Given the description of an element on the screen output the (x, y) to click on. 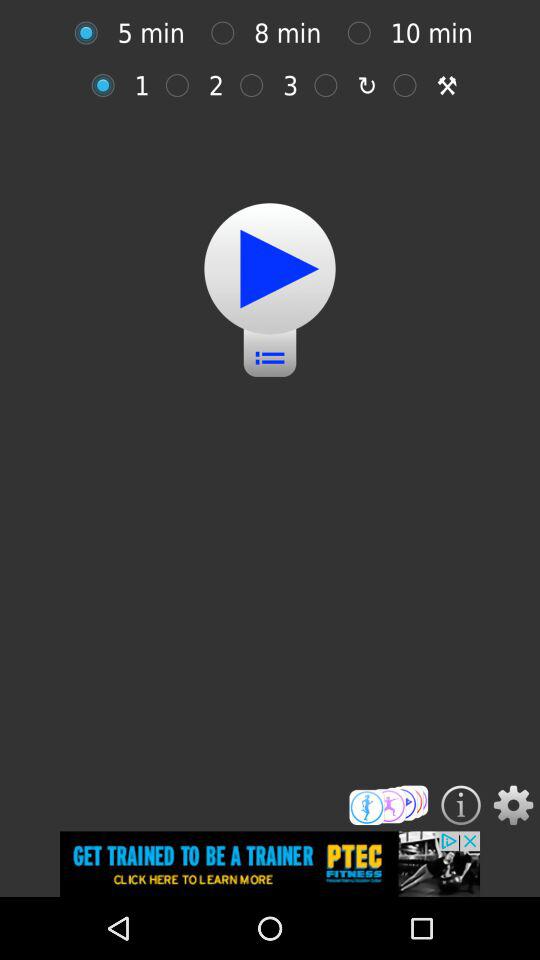
time option select (227, 32)
